Given the description of an element on the screen output the (x, y) to click on. 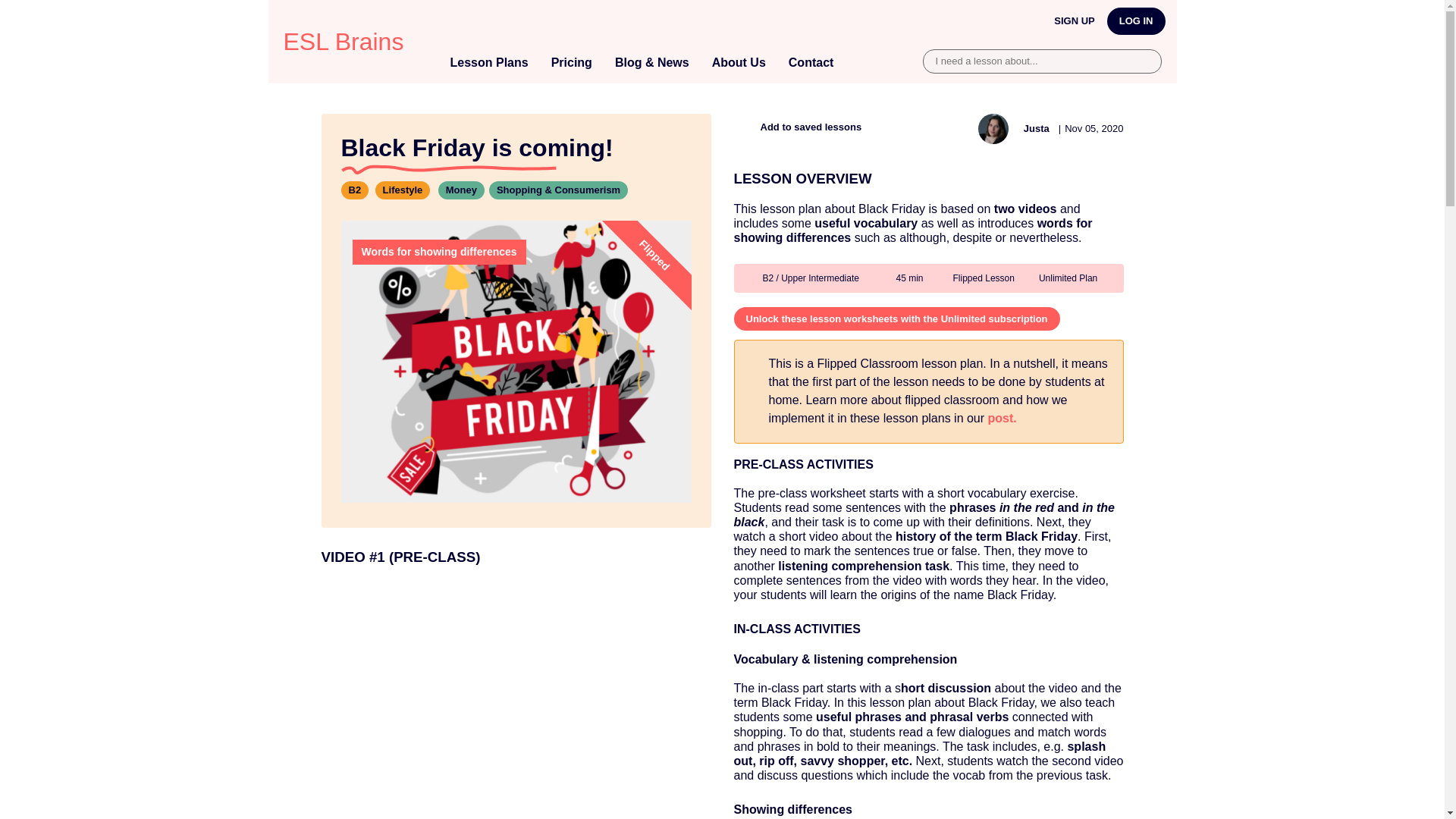
Contact (811, 63)
ESL Brains (343, 41)
B2 (355, 189)
Lesson Plans (488, 63)
The real story behind Black Friday (516, 700)
post. (1002, 418)
Pricing (571, 63)
LOG IN (1136, 21)
SIGN UP (1074, 21)
About Us (738, 63)
Lifestyle (402, 189)
Money (461, 189)
Add to saved lessons (797, 126)
